Given the description of an element on the screen output the (x, y) to click on. 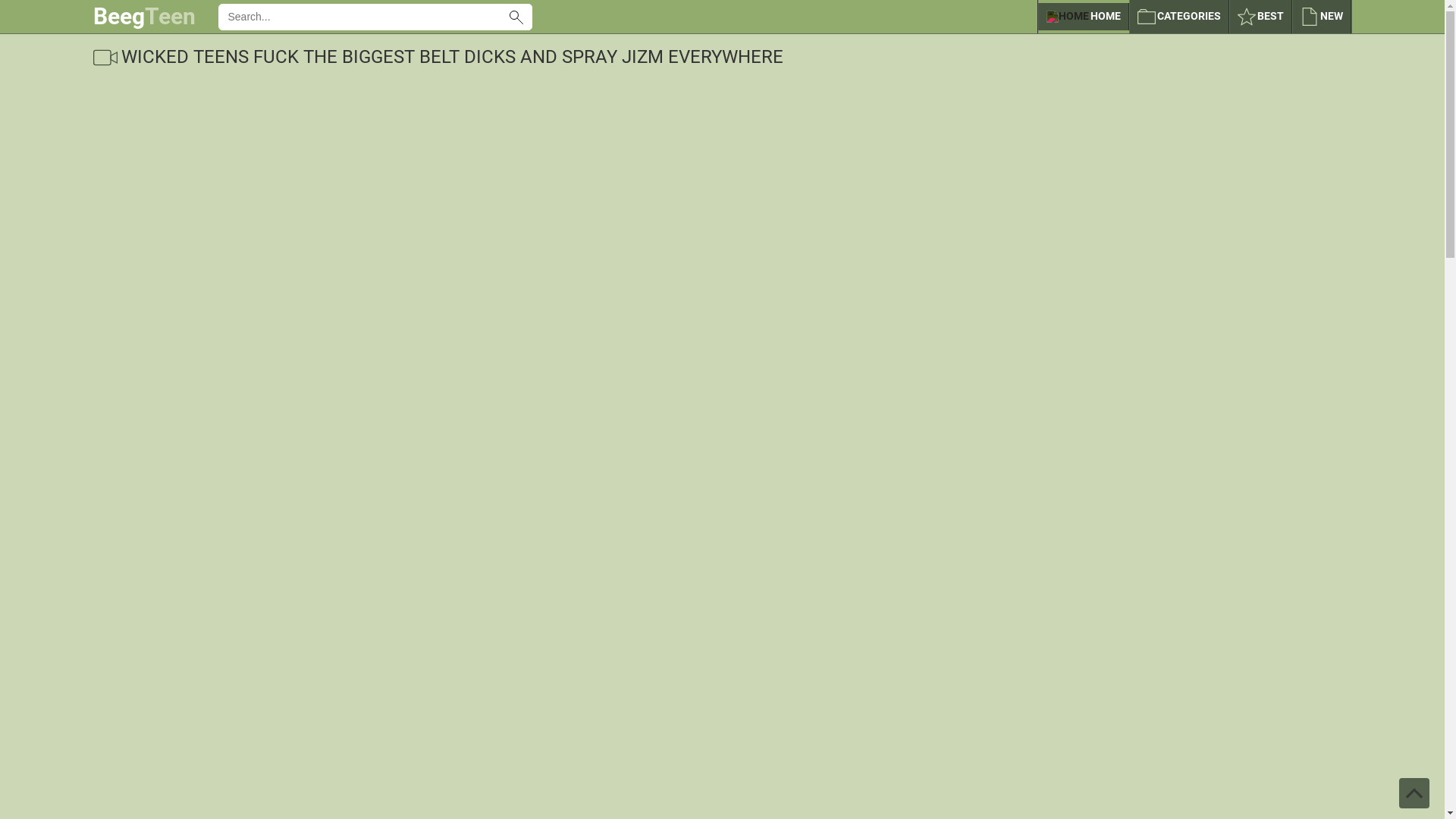
HOME Element type: text (1082, 16)
NEW Element type: text (1321, 16)
BEST Element type: text (1259, 16)
Use Latin letters, digits, space, - Element type: hover (360, 16)
BeegTeen Element type: text (143, 16)
CATEGORIES Element type: text (1178, 16)
